Given the description of an element on the screen output the (x, y) to click on. 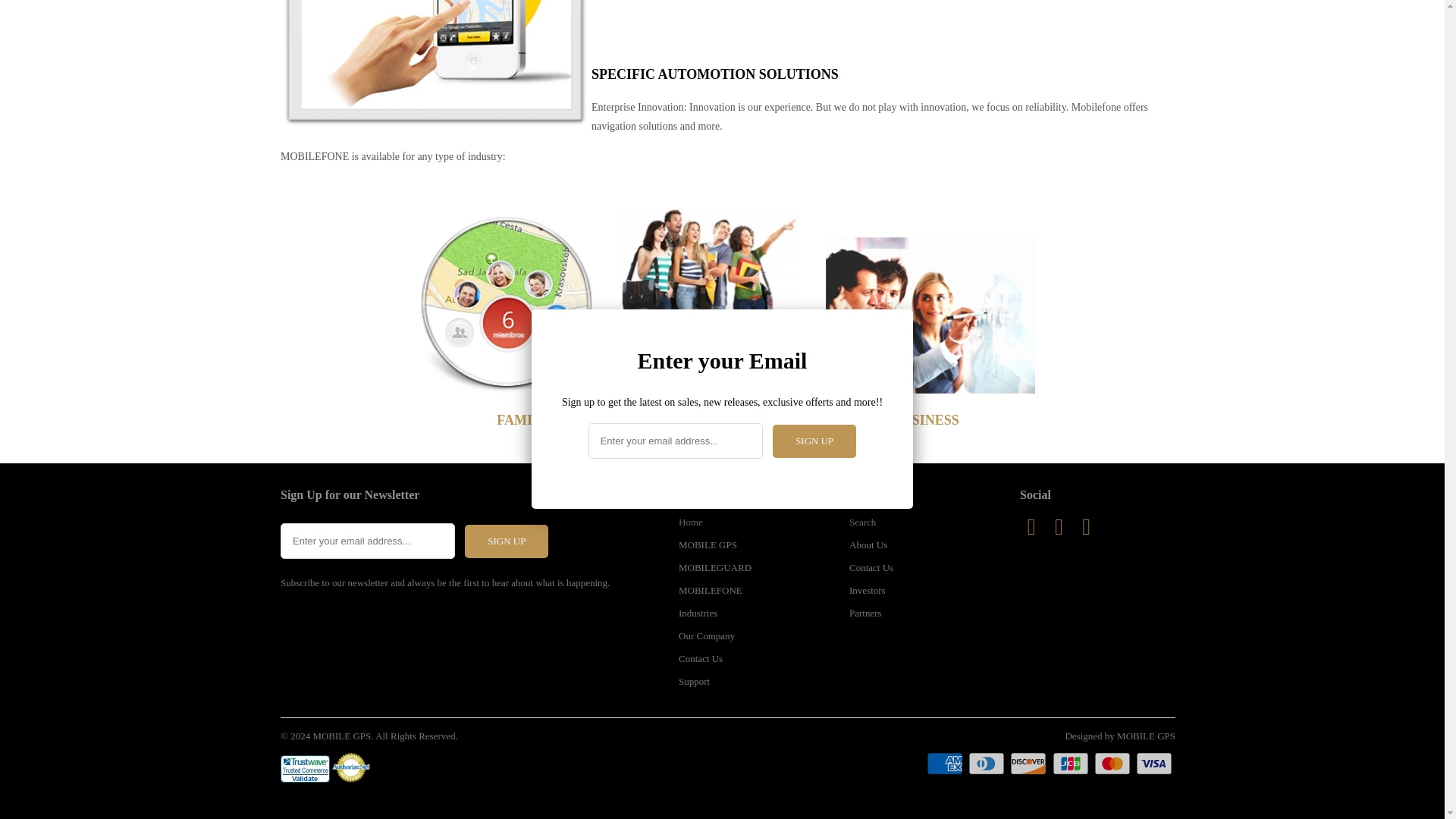
Sign Up (814, 14)
